Given the description of an element on the screen output the (x, y) to click on. 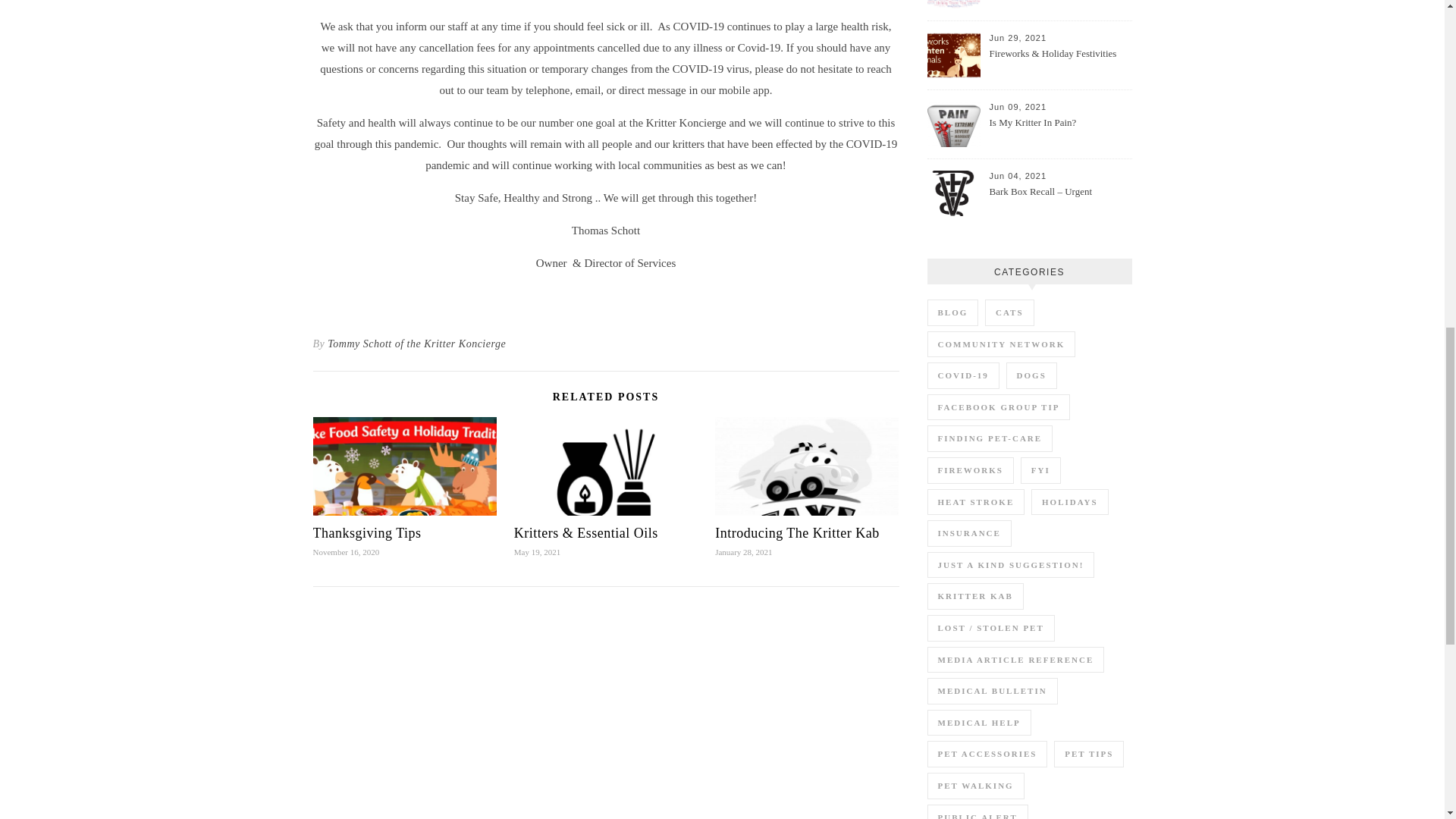
Introducing The Kritter Kab (796, 532)
Tommy Schott of the Kritter Koncierge (416, 343)
Posts by Tommy Schott of the Kritter Koncierge (416, 343)
Thanksgiving Tips (366, 532)
